Given the description of an element on the screen output the (x, y) to click on. 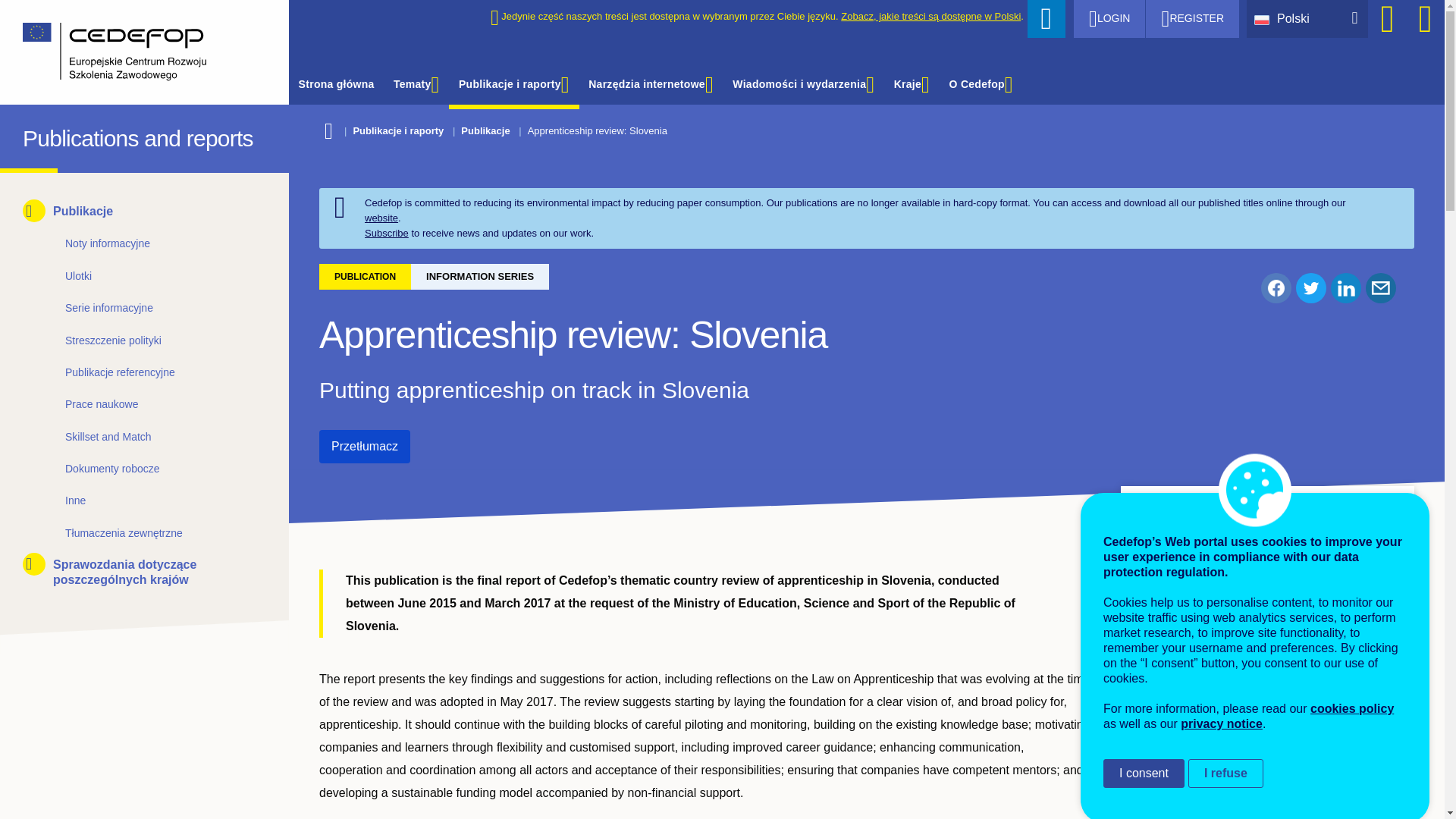
Polish (1265, 18)
CEDEFOP (37, 135)
Home (133, 52)
Home (37, 135)
Apply (1046, 18)
